Given the description of an element on the screen output the (x, y) to click on. 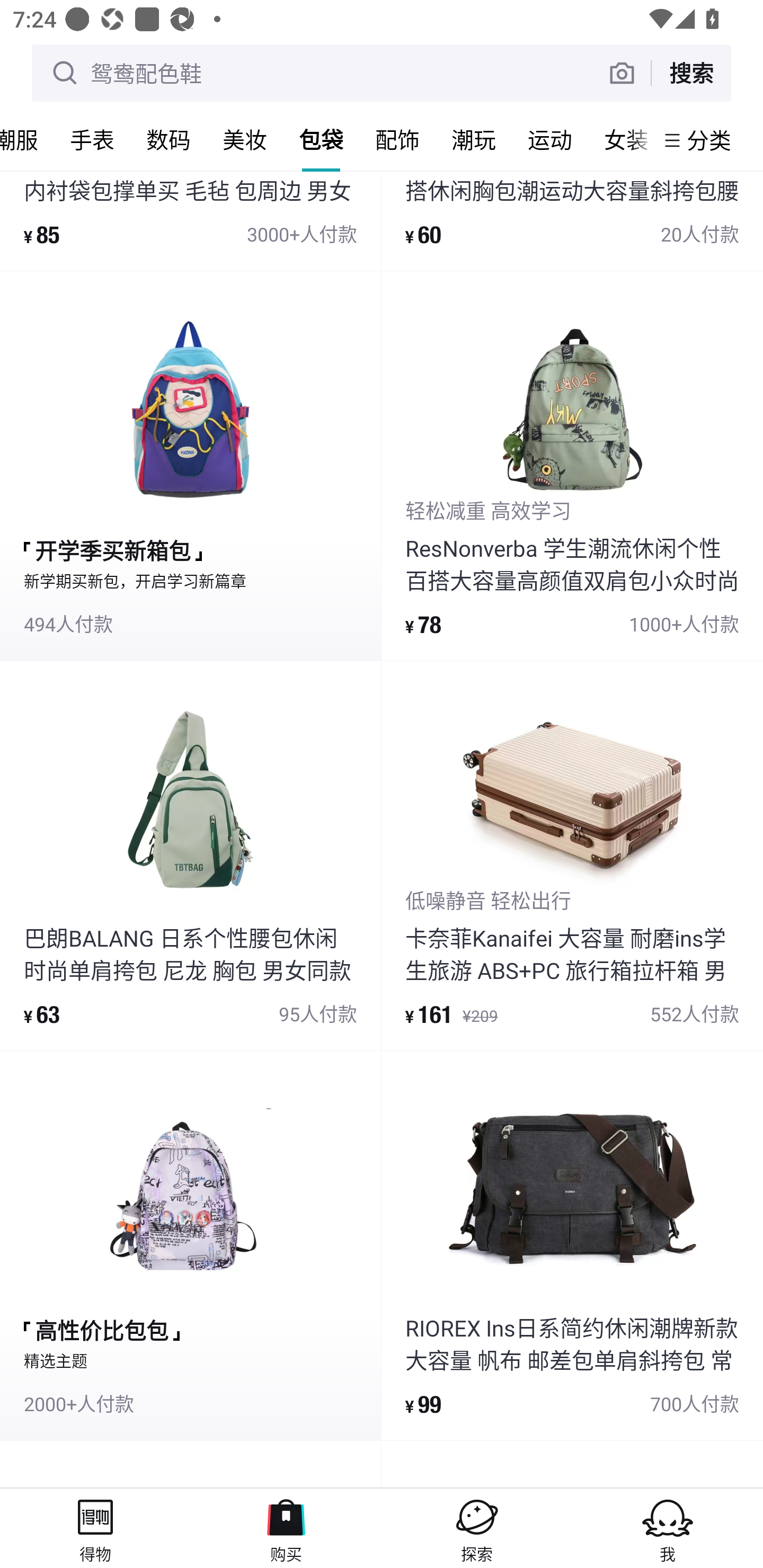
搜索 (690, 72)
潮服 (27, 139)
手表 (92, 139)
数码 (168, 139)
美妆 (244, 139)
包袋 (321, 139)
配饰 (397, 139)
潮玩 (473, 139)
运动 (549, 139)
女装 (621, 139)
分类 (708, 139)
开学季买新箱包 新学期买新包，开启学习新篇章 494人付款 (190, 465)
高性价比包包 精选主题 2000+人付款 (190, 1245)
得物 (95, 1528)
购买 (285, 1528)
探索 (476, 1528)
我 (667, 1528)
